Given the description of an element on the screen output the (x, y) to click on. 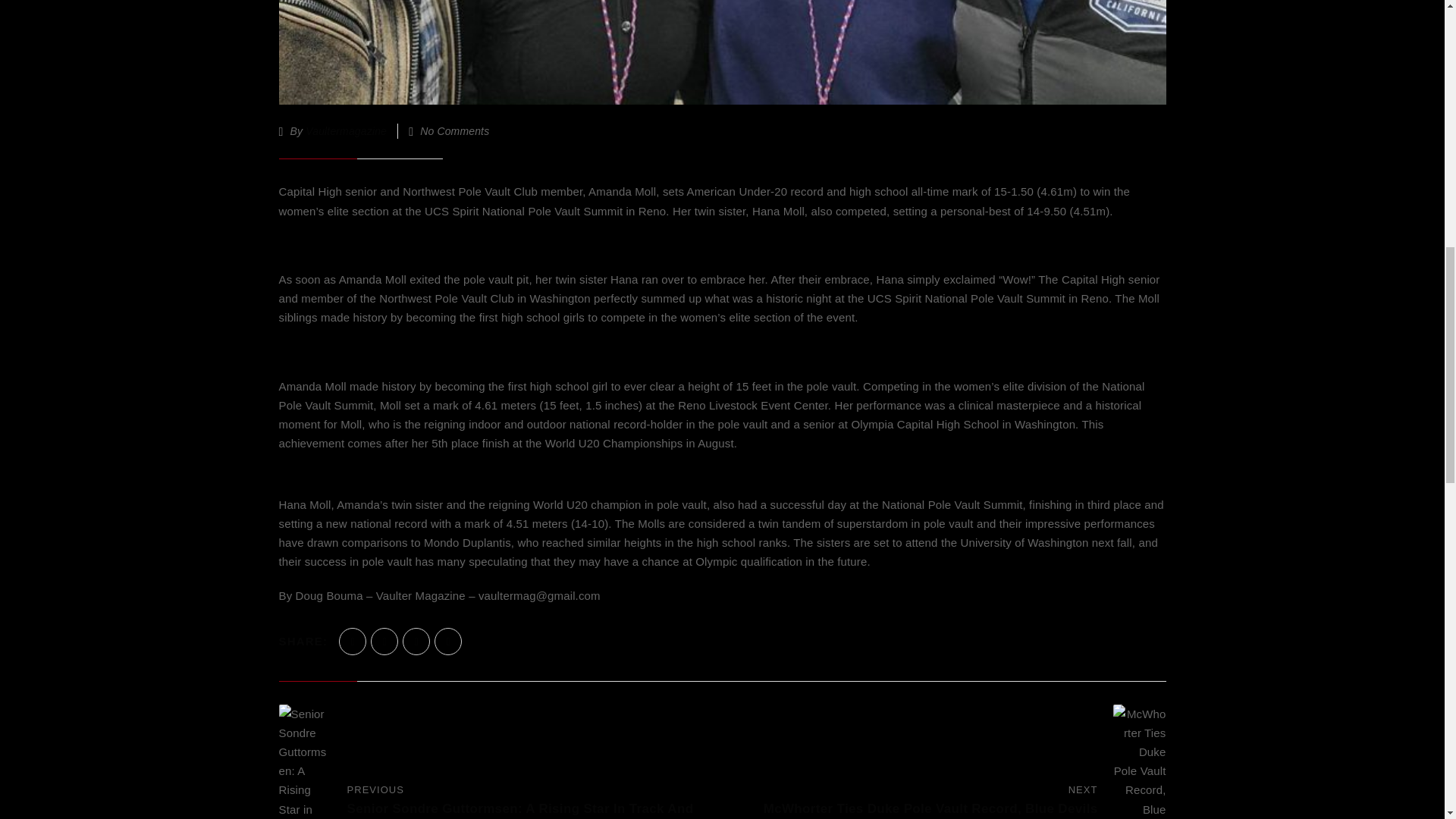
Pinterest (416, 641)
Facebook (352, 641)
Posts by vaultermagazine (346, 131)
LinkedIn (447, 641)
No Comments (454, 131)
Vaultermagazine (346, 131)
Twitter (384, 641)
